Given the description of an element on the screen output the (x, y) to click on. 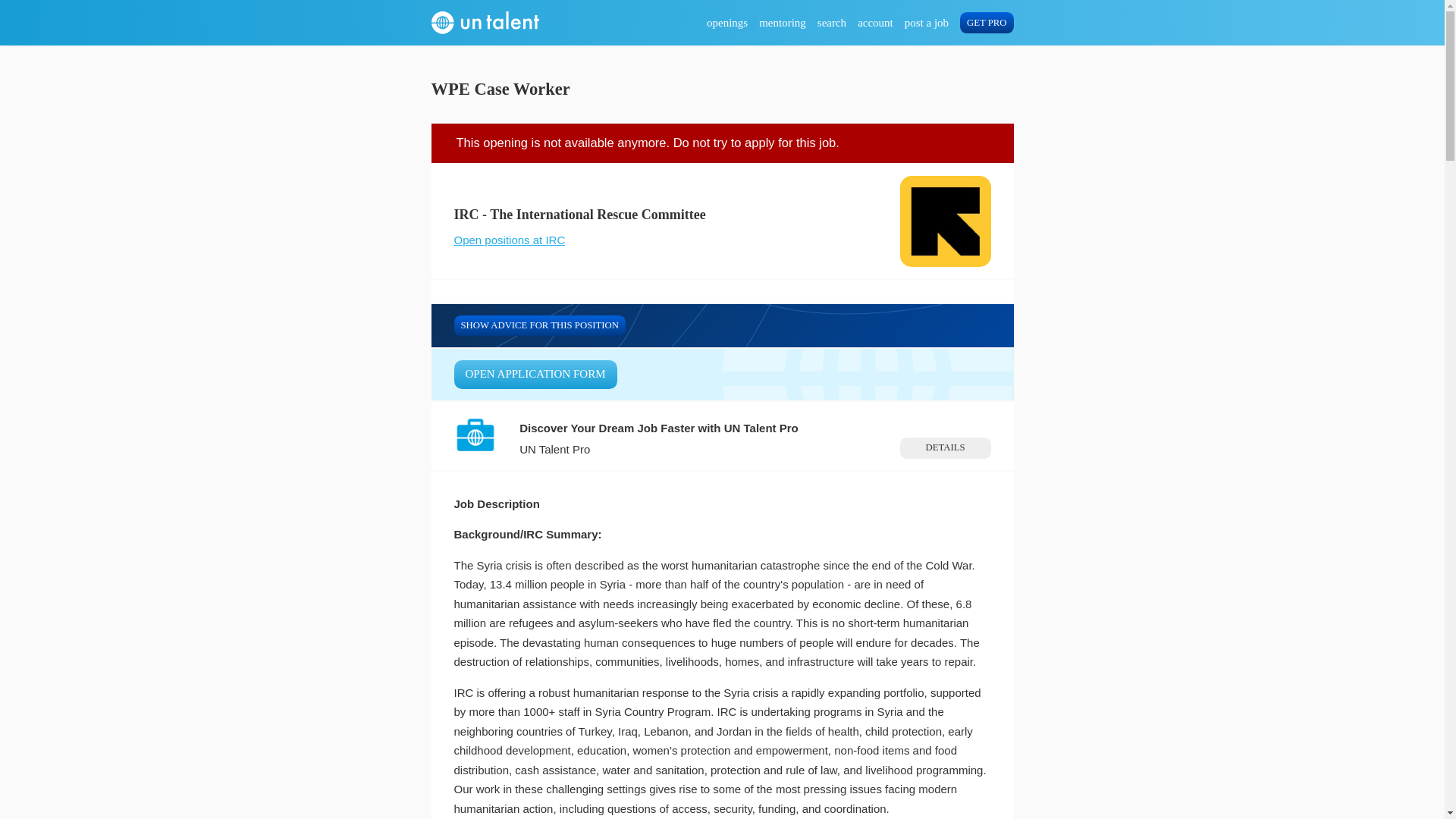
DETAILS (944, 447)
post a job (926, 22)
mentoring (782, 22)
Discover Your Dream Job Faster with UN Talent Pro (658, 427)
UN Talent Pro (554, 449)
SHOW ADVICE FOR THIS POSITION (538, 325)
OPEN APPLICATION FORM (533, 374)
account (875, 22)
Open positions at IRC (508, 239)
openings (727, 22)
search (830, 22)
GET PRO (986, 22)
